Given the description of an element on the screen output the (x, y) to click on. 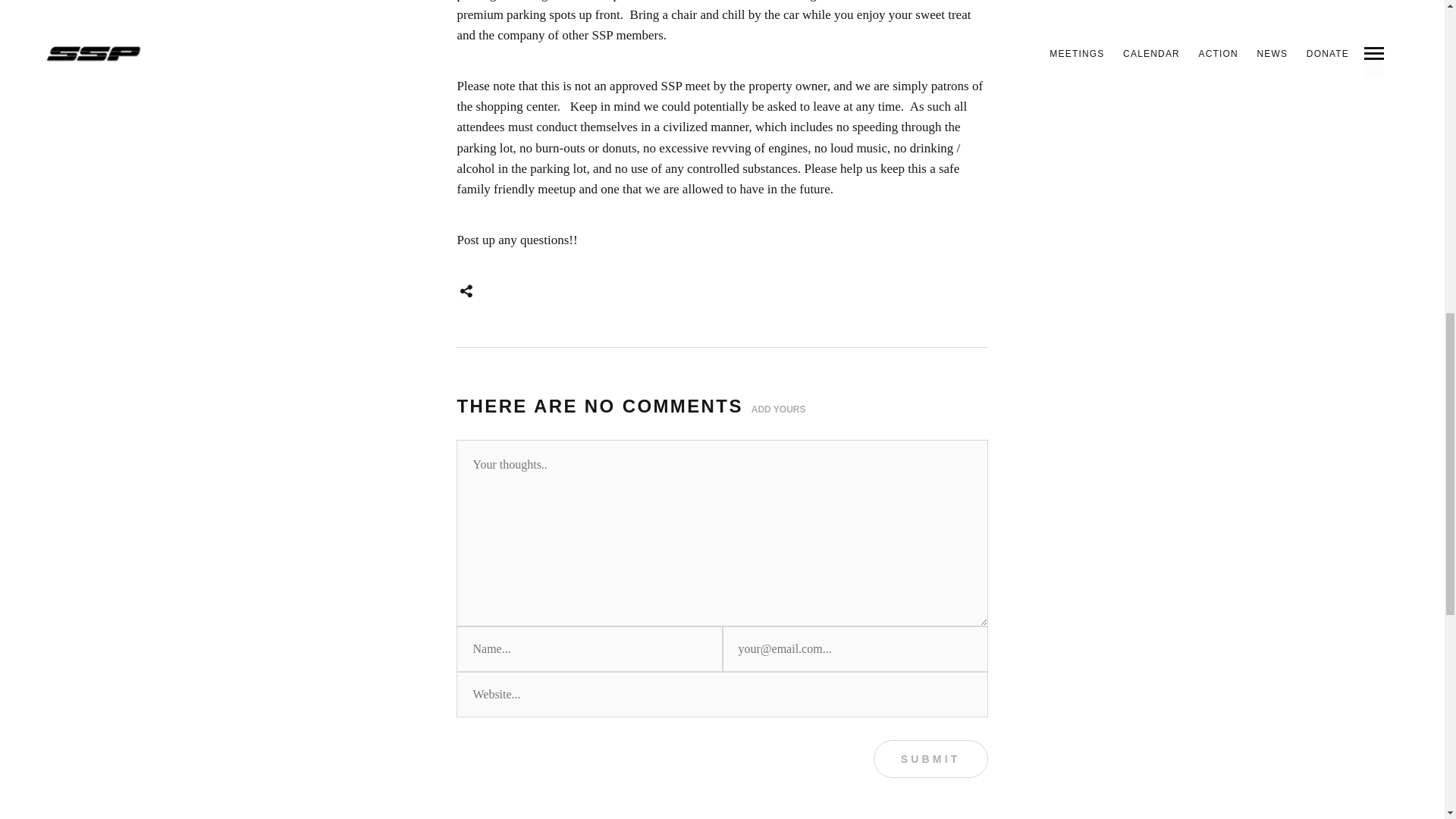
Submit (930, 759)
ADD YOURS (778, 409)
Submit (930, 759)
